Given the description of an element on the screen output the (x, y) to click on. 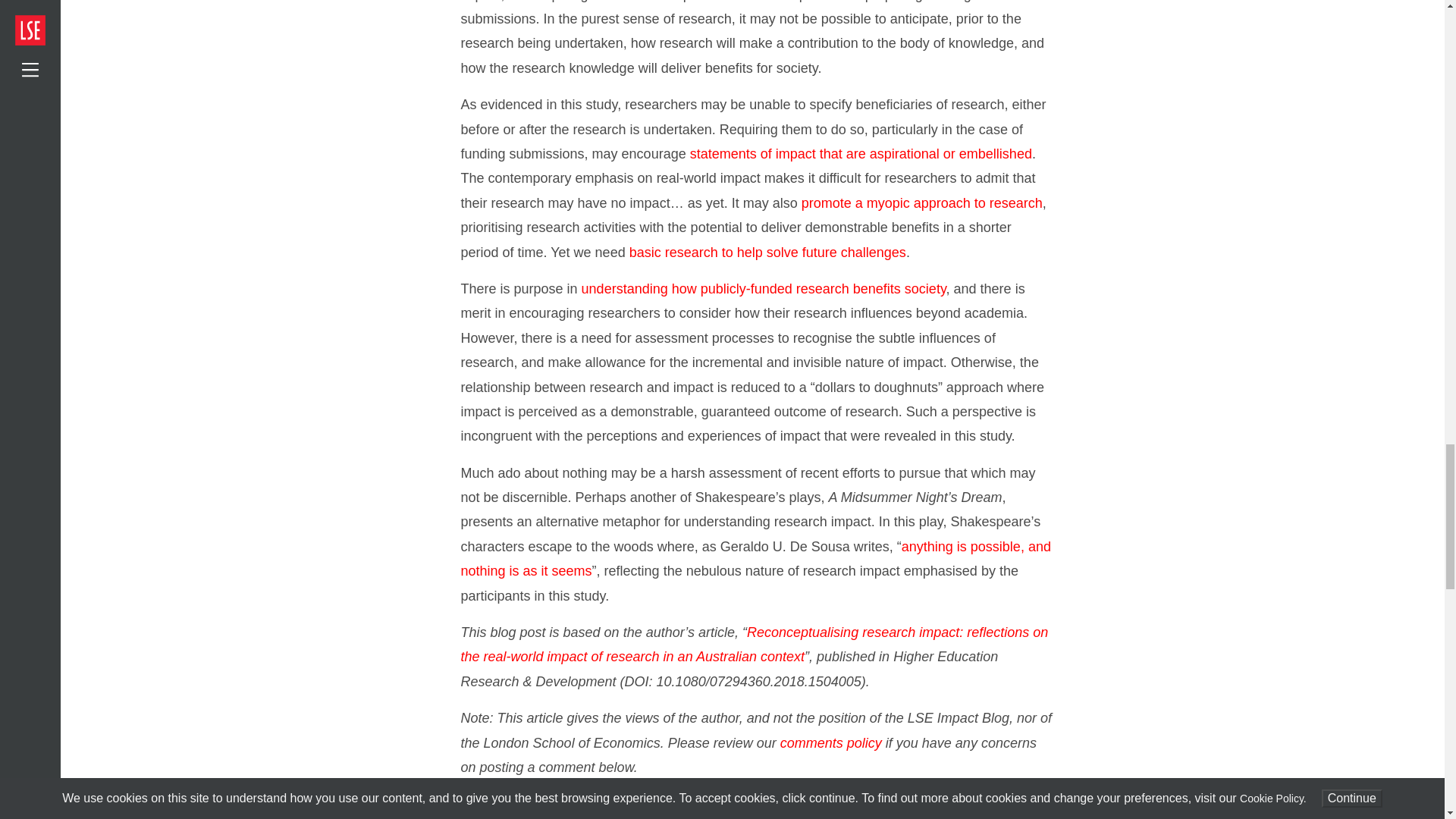
statements of impact that are aspirational or embellished (861, 153)
anything is possible, and nothing is as it seems (756, 558)
basic research to help solve future challenges (766, 252)
promote a myopic approach to research (922, 202)
comments policy (831, 743)
understanding how publicly-funded research benefits society (763, 288)
